Given the description of an element on the screen output the (x, y) to click on. 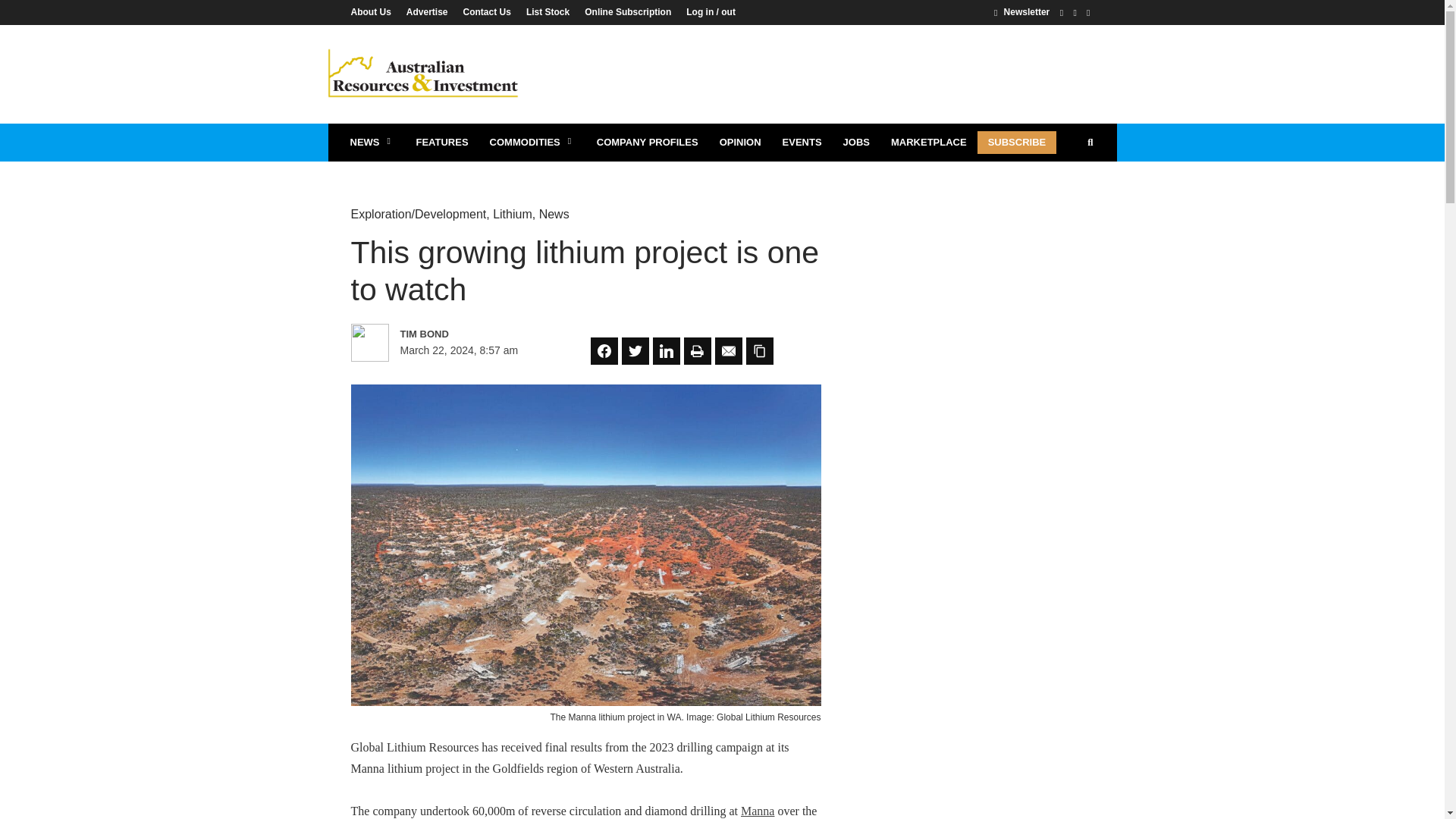
News (553, 214)
TIM BOND (465, 333)
About Us (373, 11)
View all posts by Tim Bond (465, 333)
Share on Email (728, 350)
EVENTS (801, 142)
List Stock (547, 11)
COMMODITIES (532, 142)
Lithium (512, 214)
Share on Copy Link (759, 350)
